Given the description of an element on the screen output the (x, y) to click on. 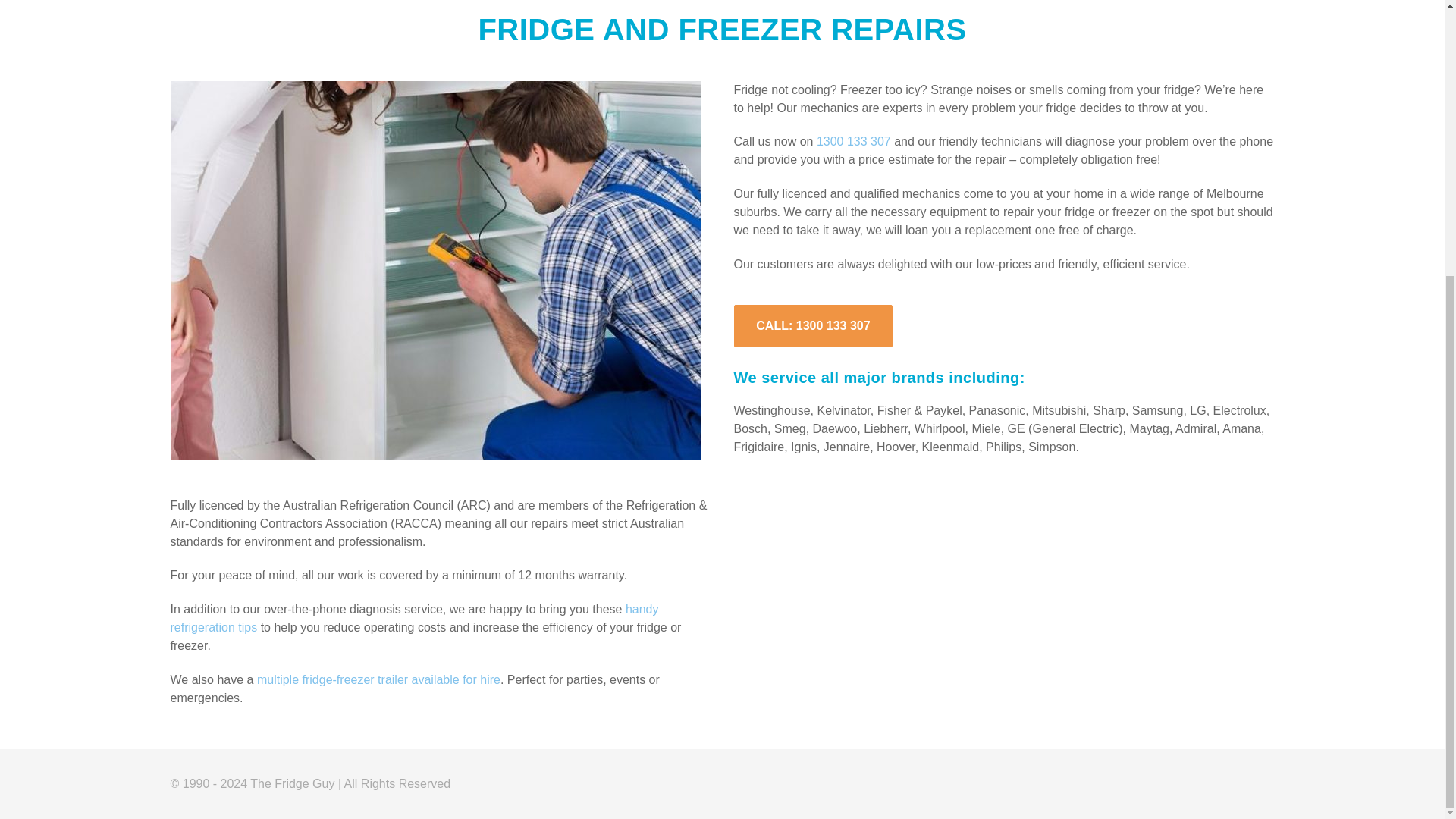
CALL: 1300 133 307 (812, 326)
1300 133 307 (853, 141)
handy refrigeration tips (414, 617)
multiple fridge-freezer trailer available for hire (378, 679)
